Given the description of an element on the screen output the (x, y) to click on. 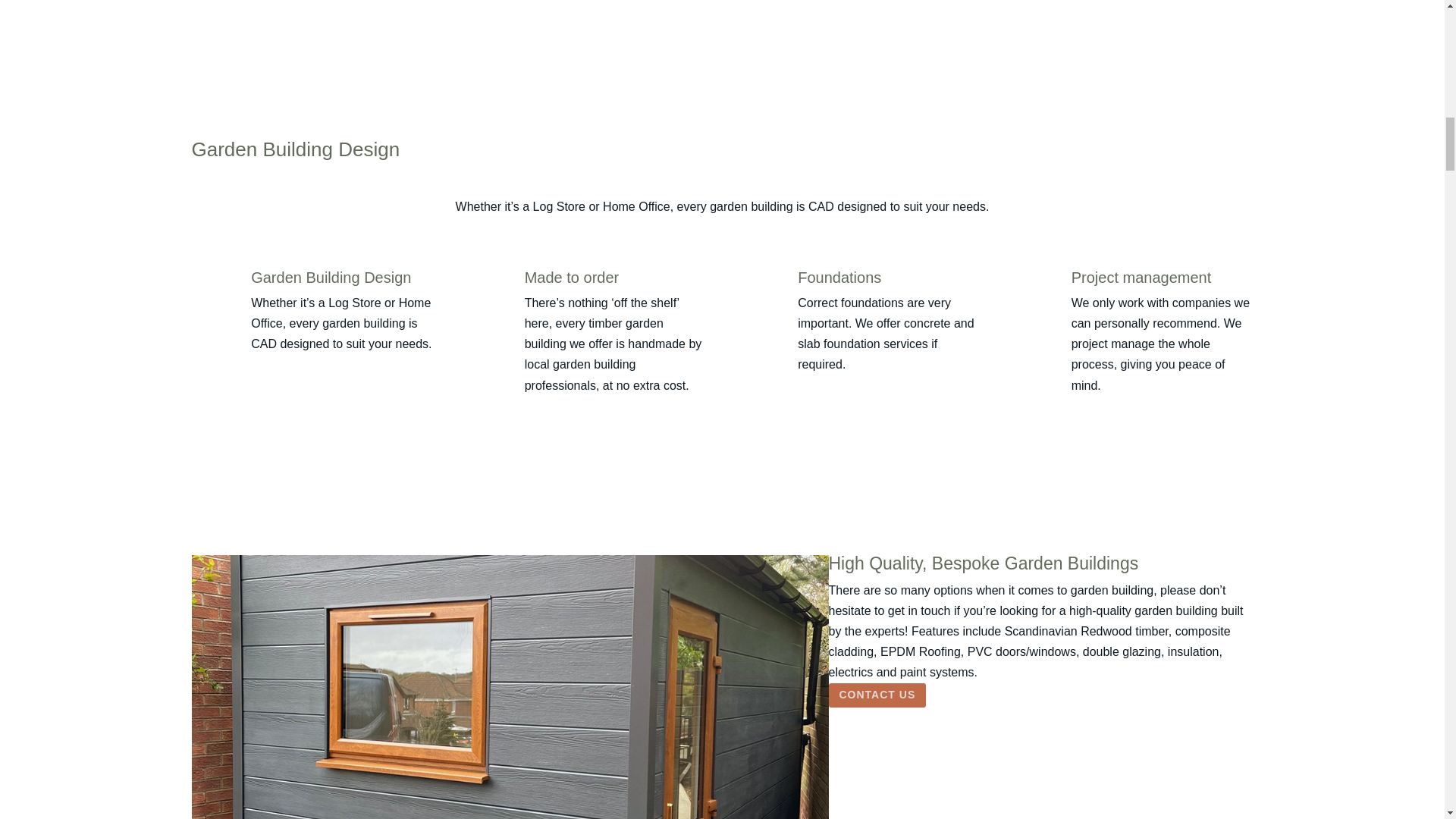
CONTACT US (877, 695)
